Given the description of an element on the screen output the (x, y) to click on. 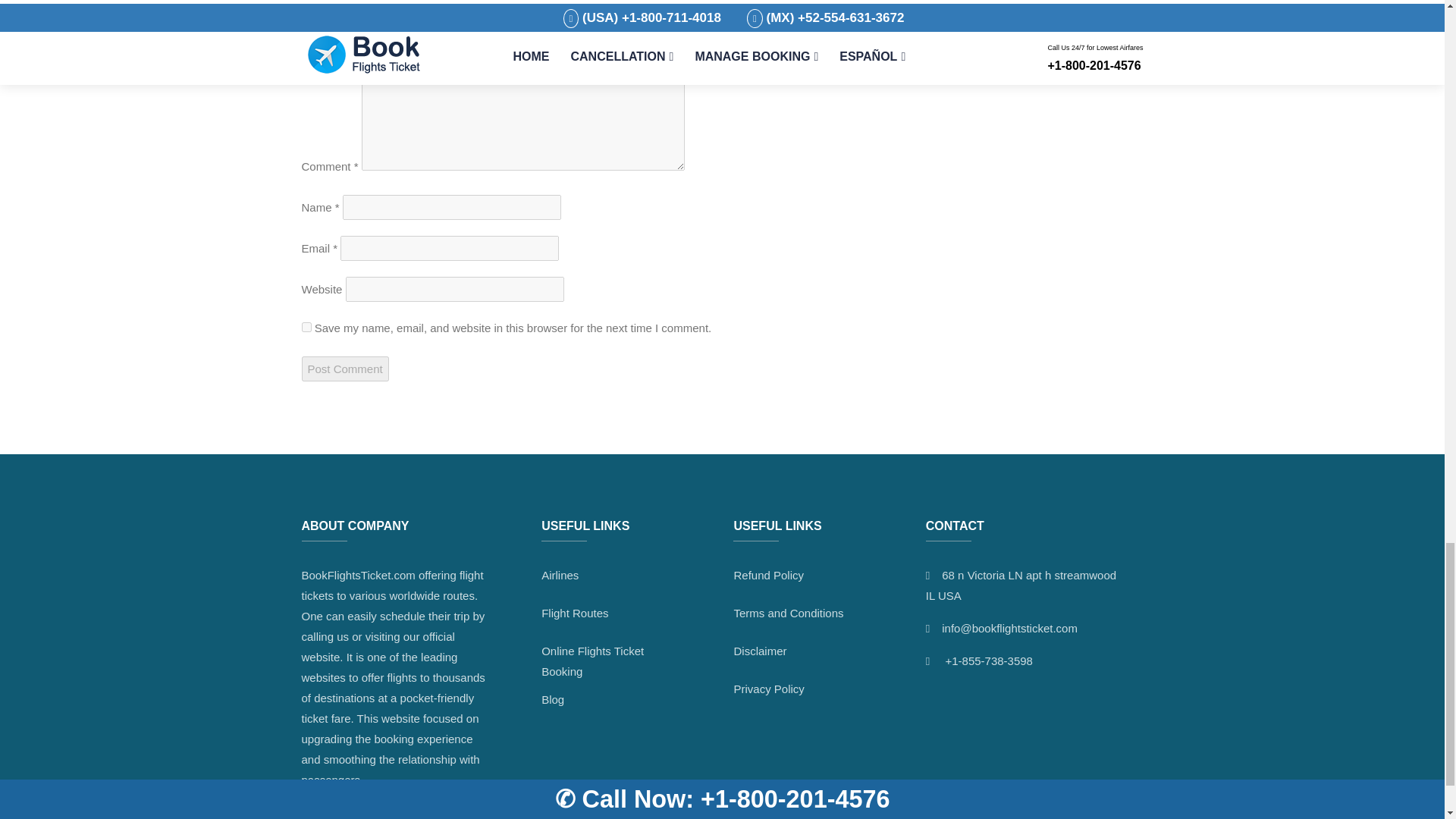
Blog (552, 698)
Flight Routes (574, 612)
Refund Policy (768, 574)
yes (306, 327)
Post Comment (344, 368)
Online Flights Ticket Booking (592, 661)
Airlines (559, 574)
Post Comment (344, 368)
